Given the description of an element on the screen output the (x, y) to click on. 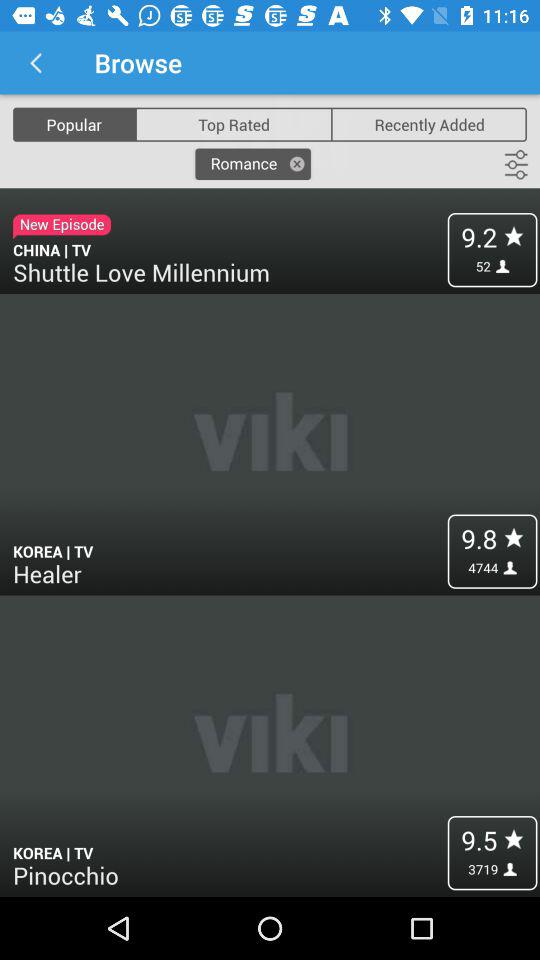
scroll to the top rated (233, 124)
